Given the description of an element on the screen output the (x, y) to click on. 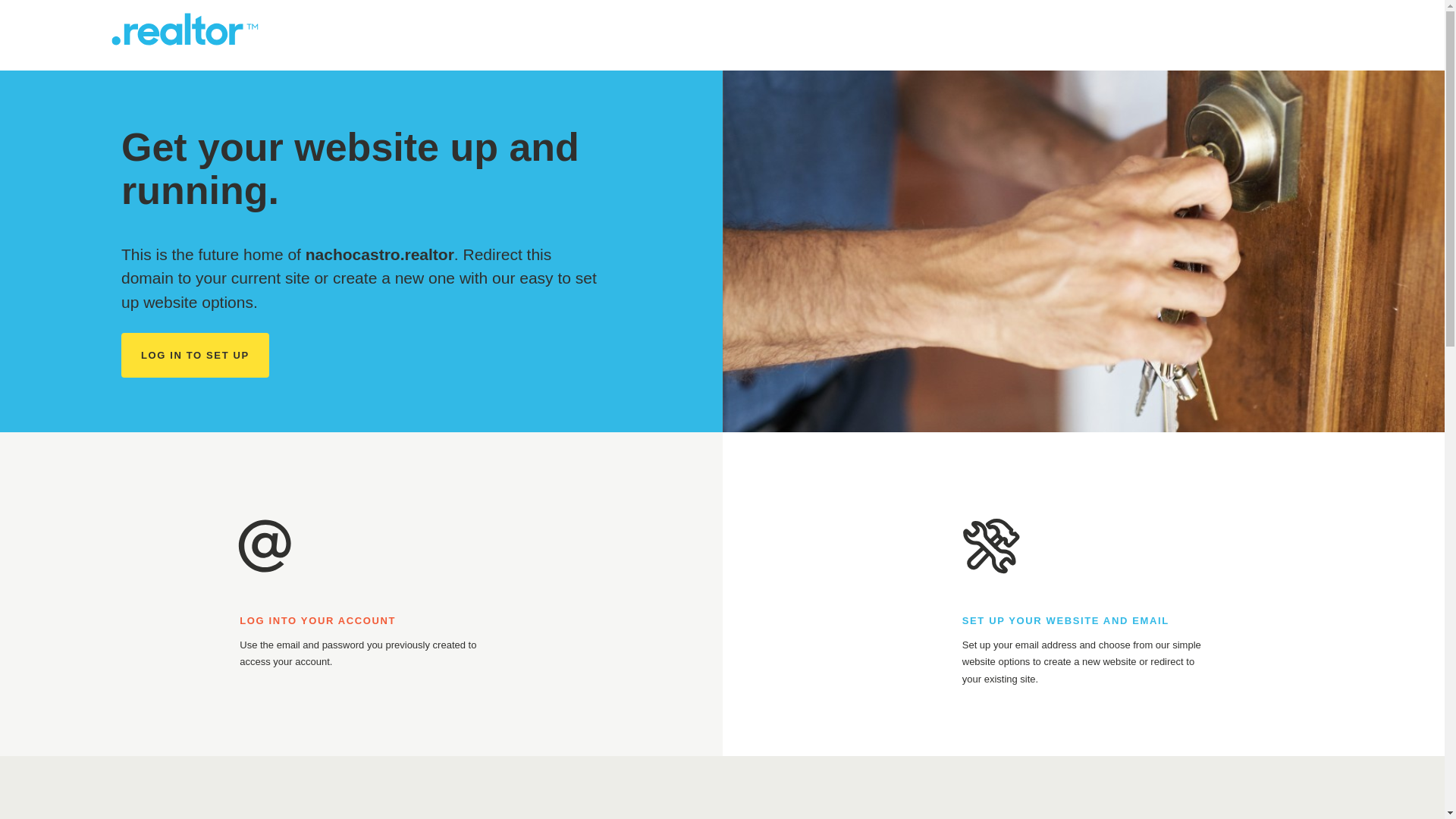
LOG IN TO SET UP (194, 354)
Log In to Set Up (194, 354)
